Given the description of an element on the screen output the (x, y) to click on. 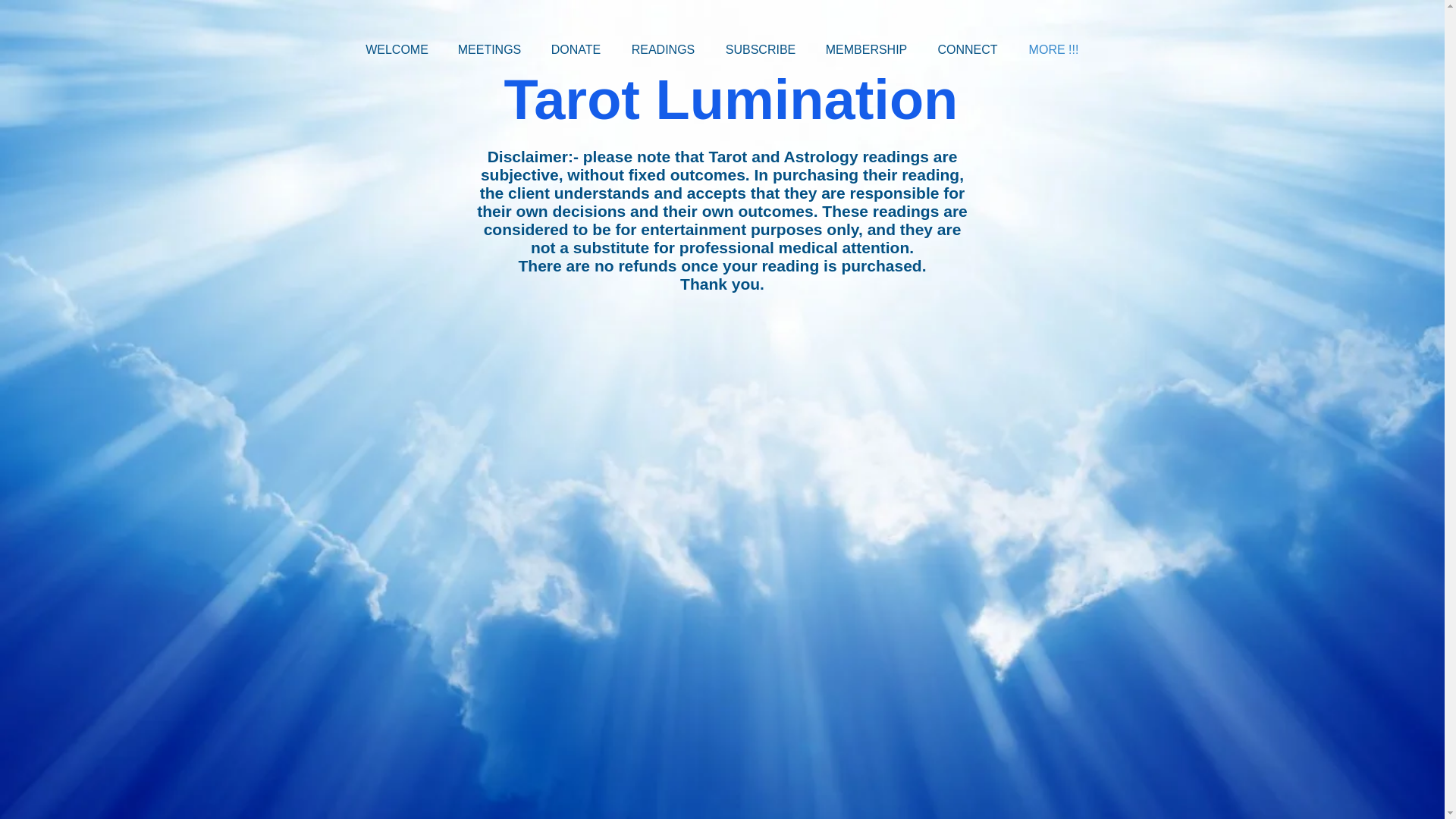
MEMBERSHIP (865, 49)
READINGS (662, 49)
DONATE (575, 49)
SUBSCRIBE (760, 49)
CONNECT (967, 49)
WELCOME (396, 49)
MORE !!! (1053, 49)
MEETINGS (488, 49)
